Given the description of an element on the screen output the (x, y) to click on. 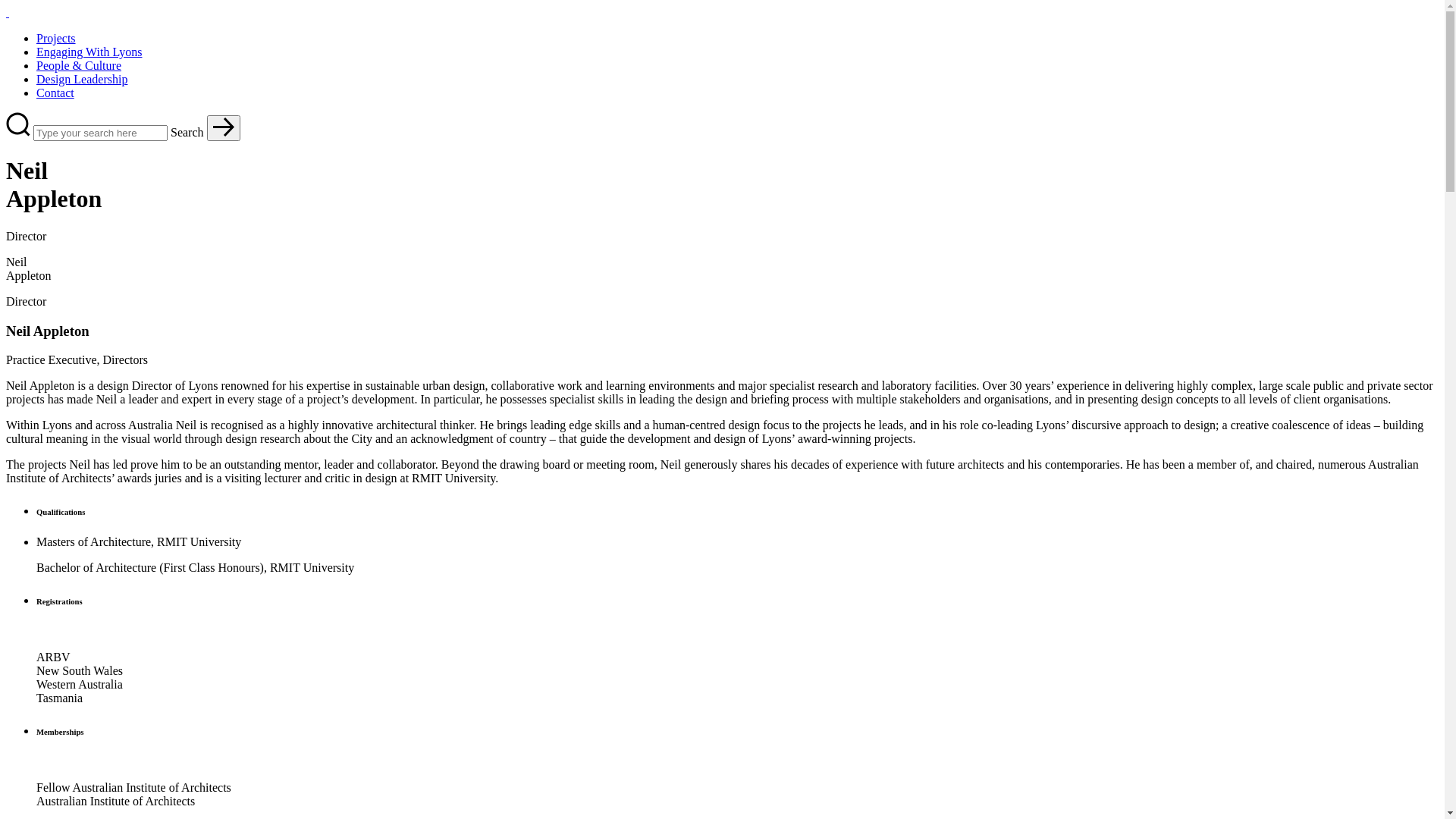
Design Leadership Element type: text (81, 78)
Engaging With Lyons Element type: text (89, 51)
People & Culture Element type: text (78, 65)
Contact Element type: text (55, 92)
Projects Element type: text (55, 37)
